Given the description of an element on the screen output the (x, y) to click on. 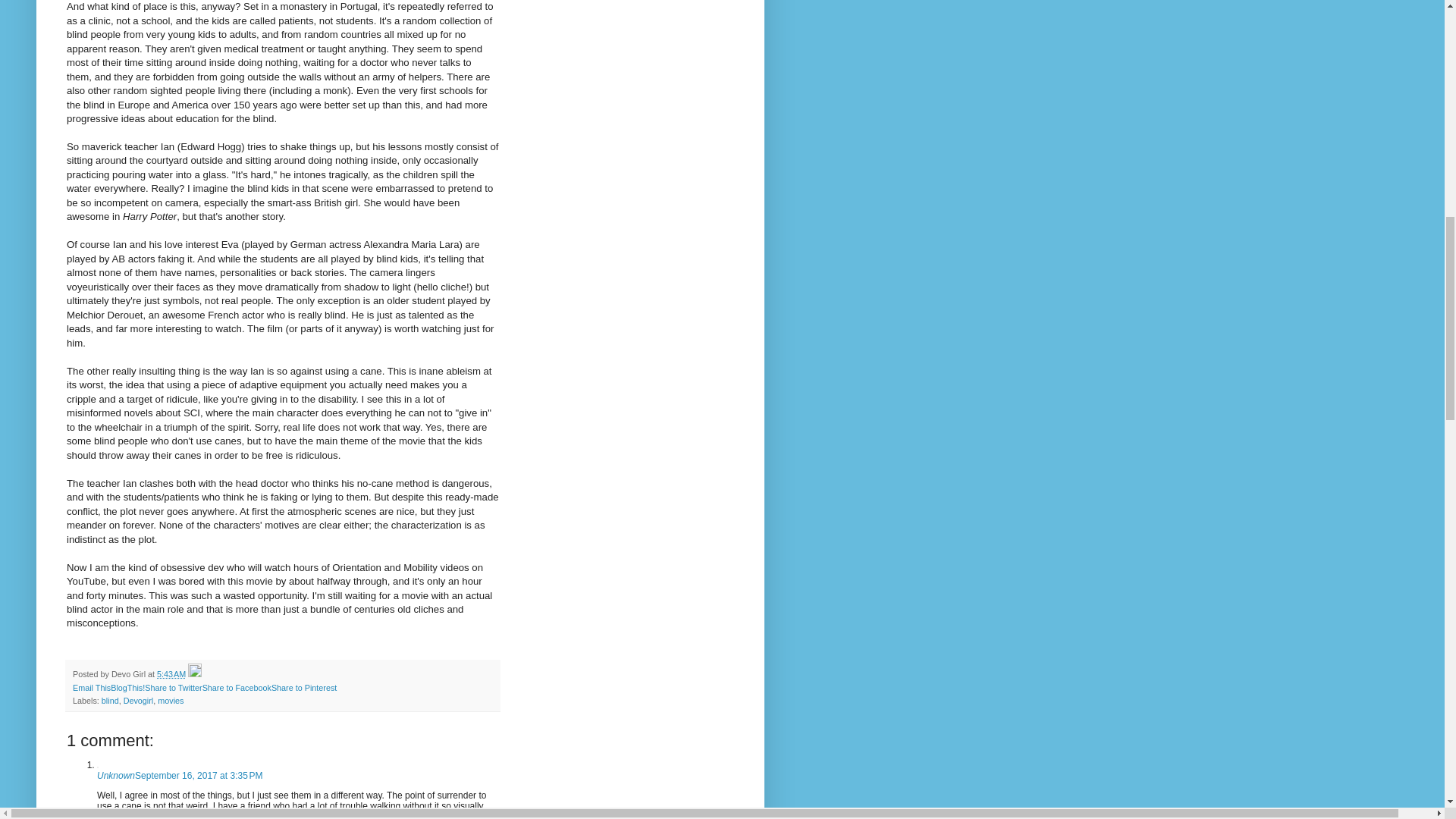
Edit Post (194, 673)
Devogirl (138, 700)
Unknown (116, 775)
permanent link (171, 673)
movies (170, 700)
Share to Twitter (173, 687)
Email This (91, 687)
Email This (91, 687)
Share to Facebook (236, 687)
blind (110, 700)
Share to Facebook (236, 687)
BlogThis! (127, 687)
Share to Twitter (173, 687)
Share to Pinterest (303, 687)
BlogThis! (127, 687)
